Given the description of an element on the screen output the (x, y) to click on. 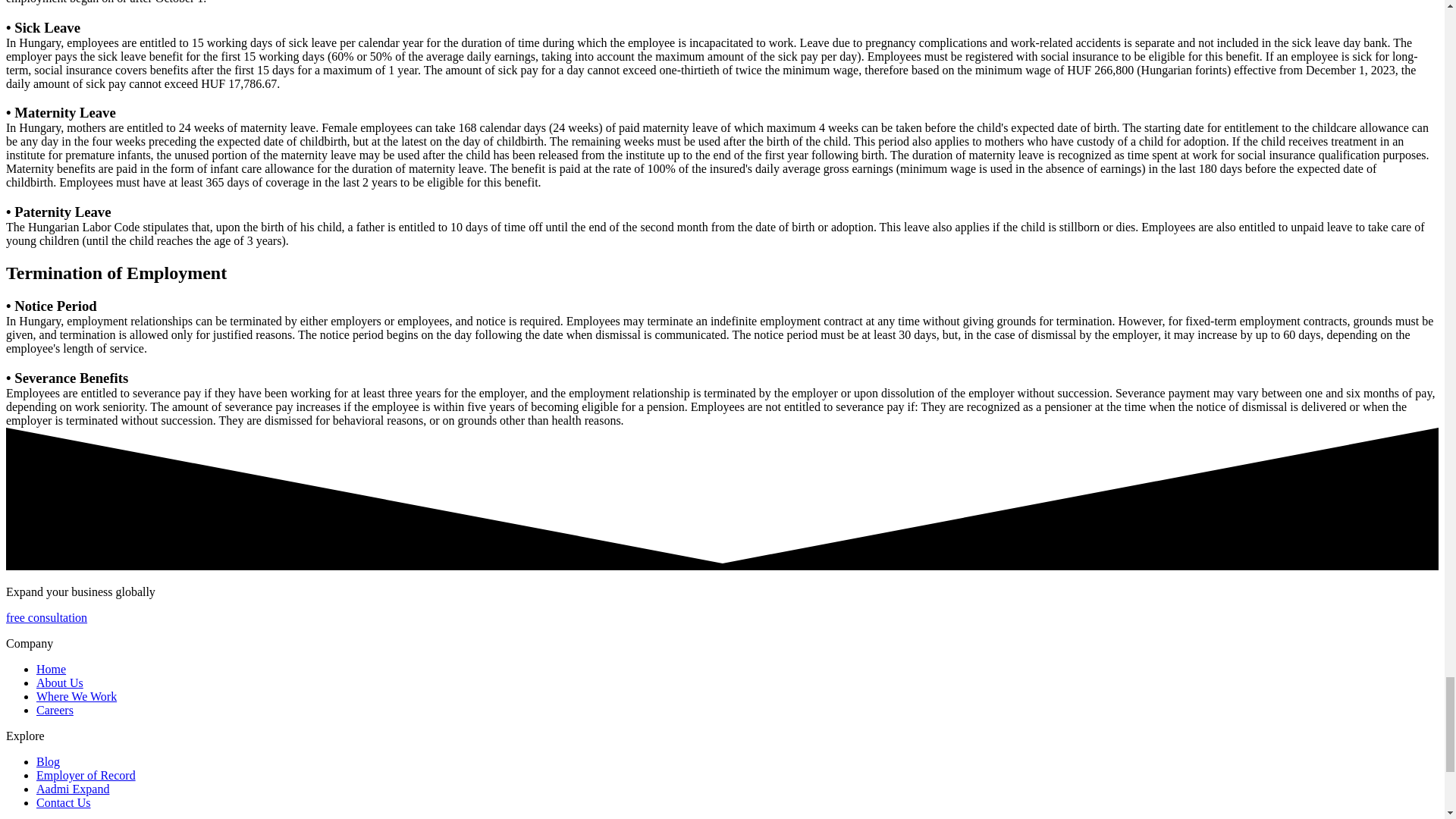
Employer of Record (85, 775)
Where We Work (76, 696)
Blog (47, 761)
Careers (55, 709)
free consultation (46, 617)
Home (50, 668)
About Us (59, 682)
